Given the description of an element on the screen output the (x, y) to click on. 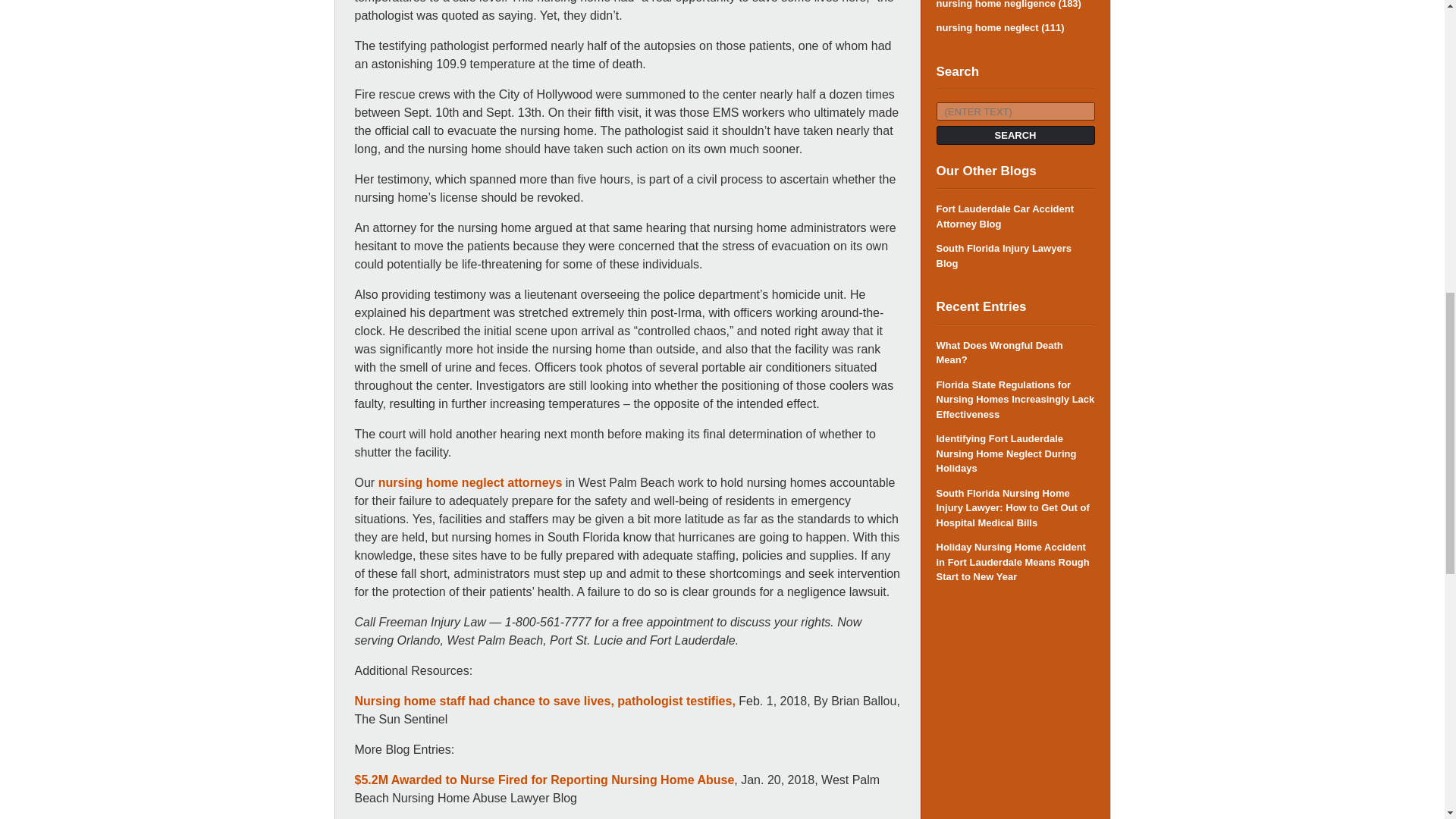
nursing home neglect attorneys (470, 481)
